Given the description of an element on the screen output the (x, y) to click on. 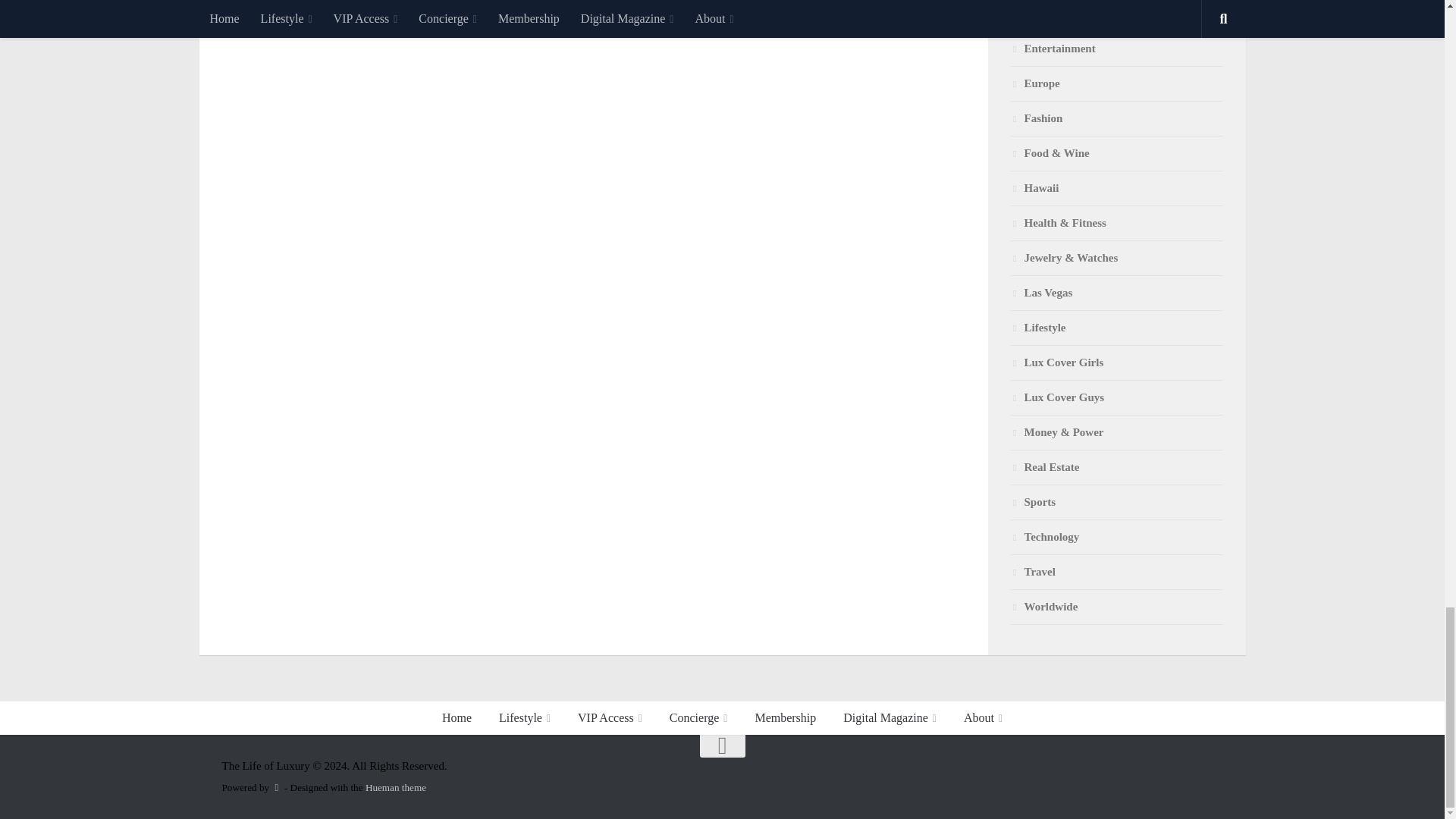
Hueman theme (395, 787)
Powered by WordPress (275, 787)
